Given the description of an element on the screen output the (x, y) to click on. 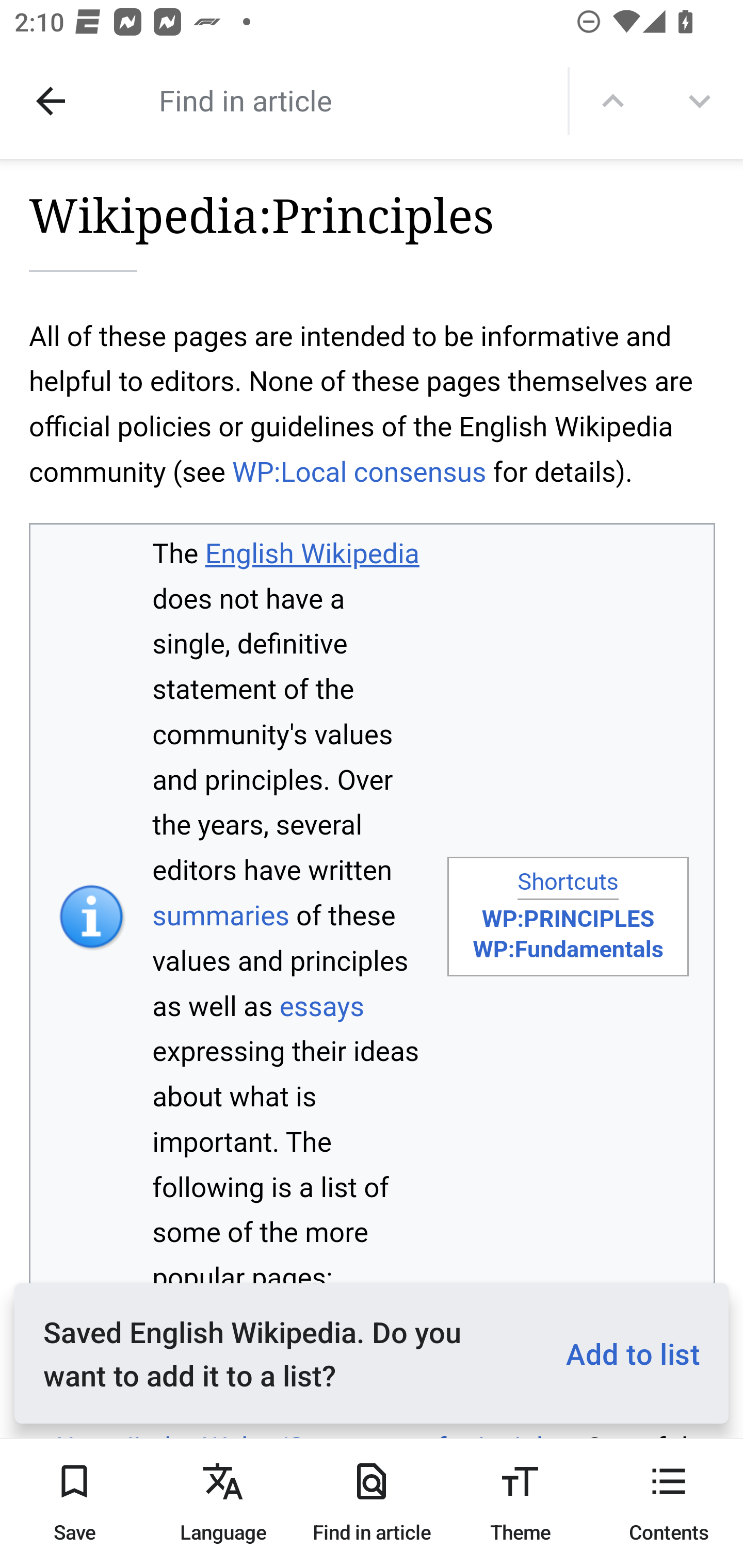
Done (50, 101)
Find previous (612, 101)
Find next (699, 101)
Find in article (334, 100)
WP:Local consensus (359, 471)
English Wikipedia (311, 553)
Shortcuts (567, 882)
summaries (220, 915)
WP:PRINCIPLES (567, 918)
WP:Fundamentals (567, 949)
essays (320, 1006)
Add to list (625, 1353)
Save (74, 1502)
Language (222, 1502)
Find in article (371, 1502)
Theme (519, 1502)
Contents (668, 1502)
